Given the description of an element on the screen output the (x, y) to click on. 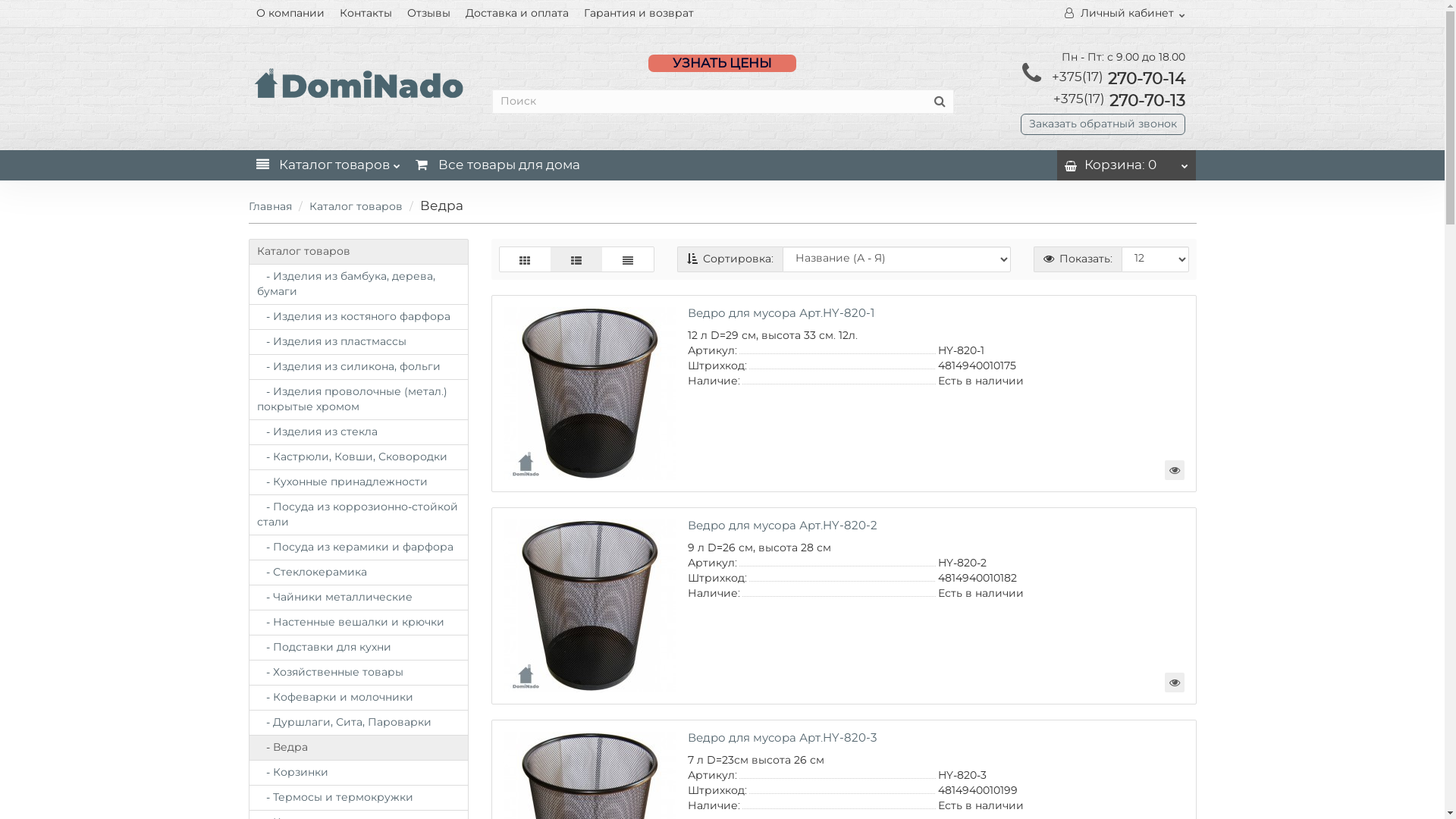
+375(17) 270-70-13 Element type: text (1118, 101)
rosprodukt.by Element type: hover (358, 82)
+375(17) 270-70-14 Element type: text (1117, 79)
